Given the description of an element on the screen output the (x, y) to click on. 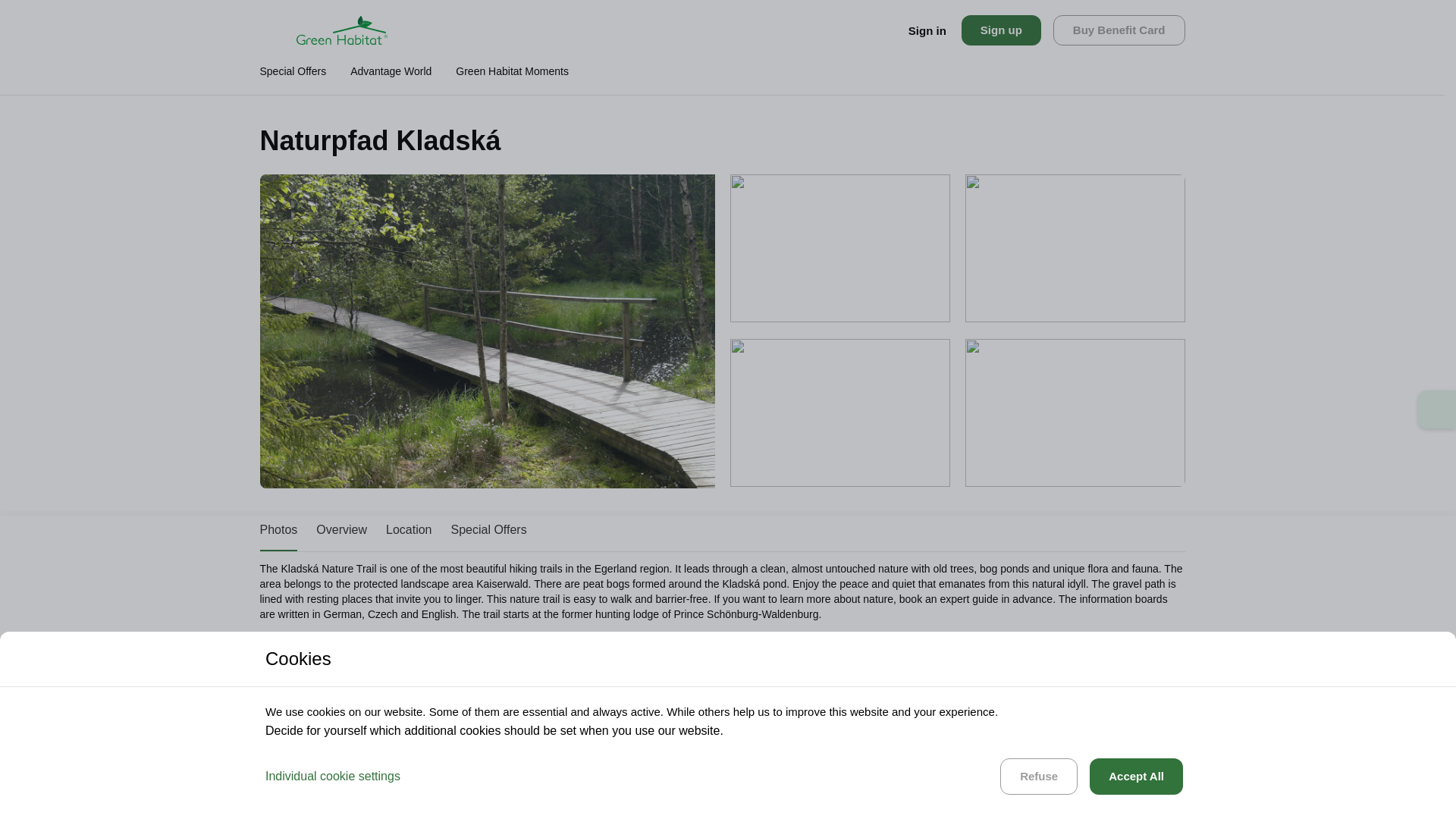
Special Offers (487, 531)
Advantage World (390, 77)
Sign up (1000, 30)
Special Offers (292, 77)
Open Menu (274, 30)
Location (408, 531)
Photos (278, 531)
Buy Benefit Card (1118, 30)
Sign in (927, 30)
Special Offers (487, 531)
